Given the description of an element on the screen output the (x, y) to click on. 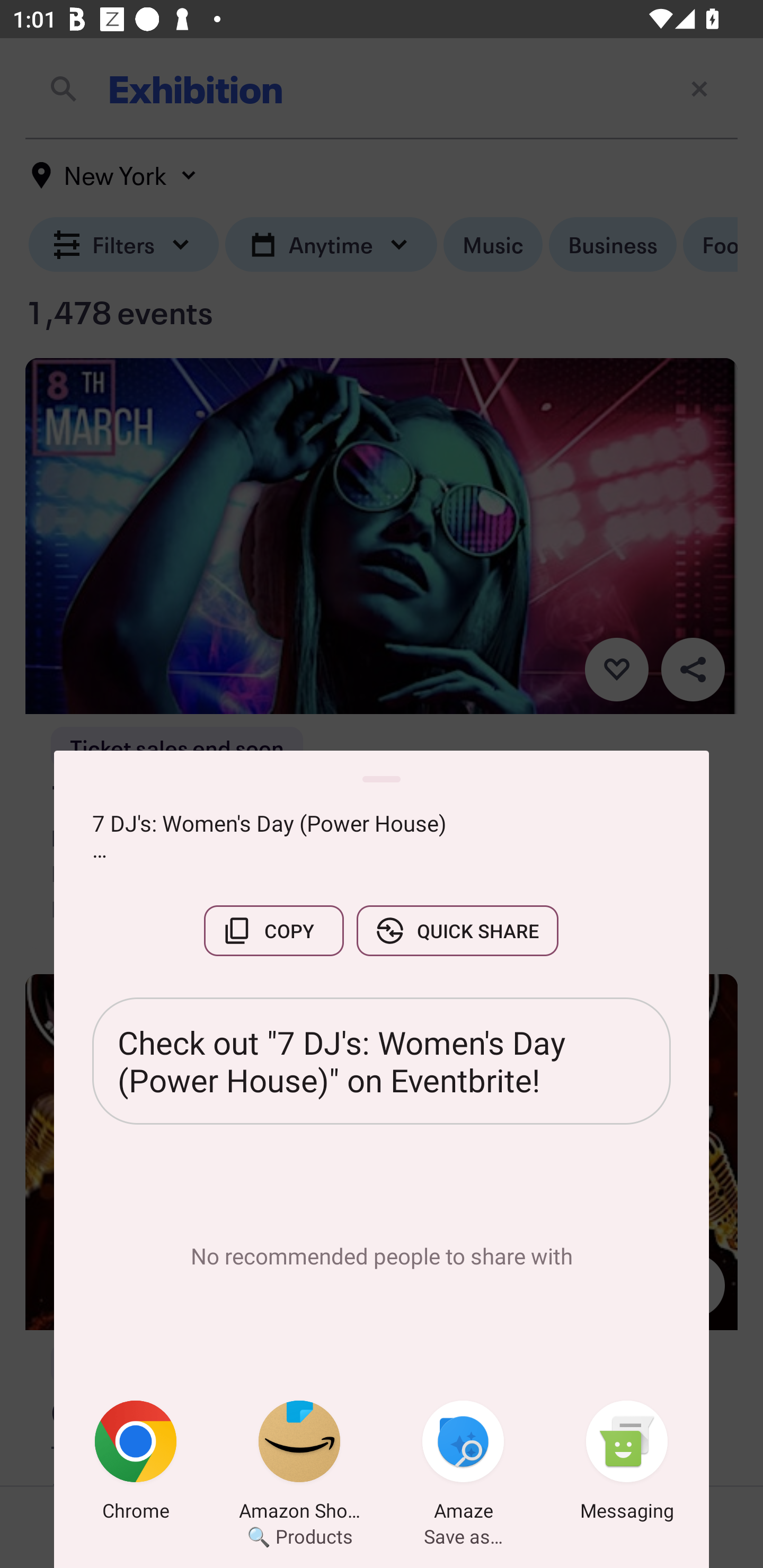
COPY (273, 930)
QUICK SHARE (457, 930)
Chrome (135, 1463)
Amazon Shopping 🔍 Products (299, 1463)
Amaze Save as… (463, 1463)
Messaging (626, 1463)
